Given the description of an element on the screen output the (x, y) to click on. 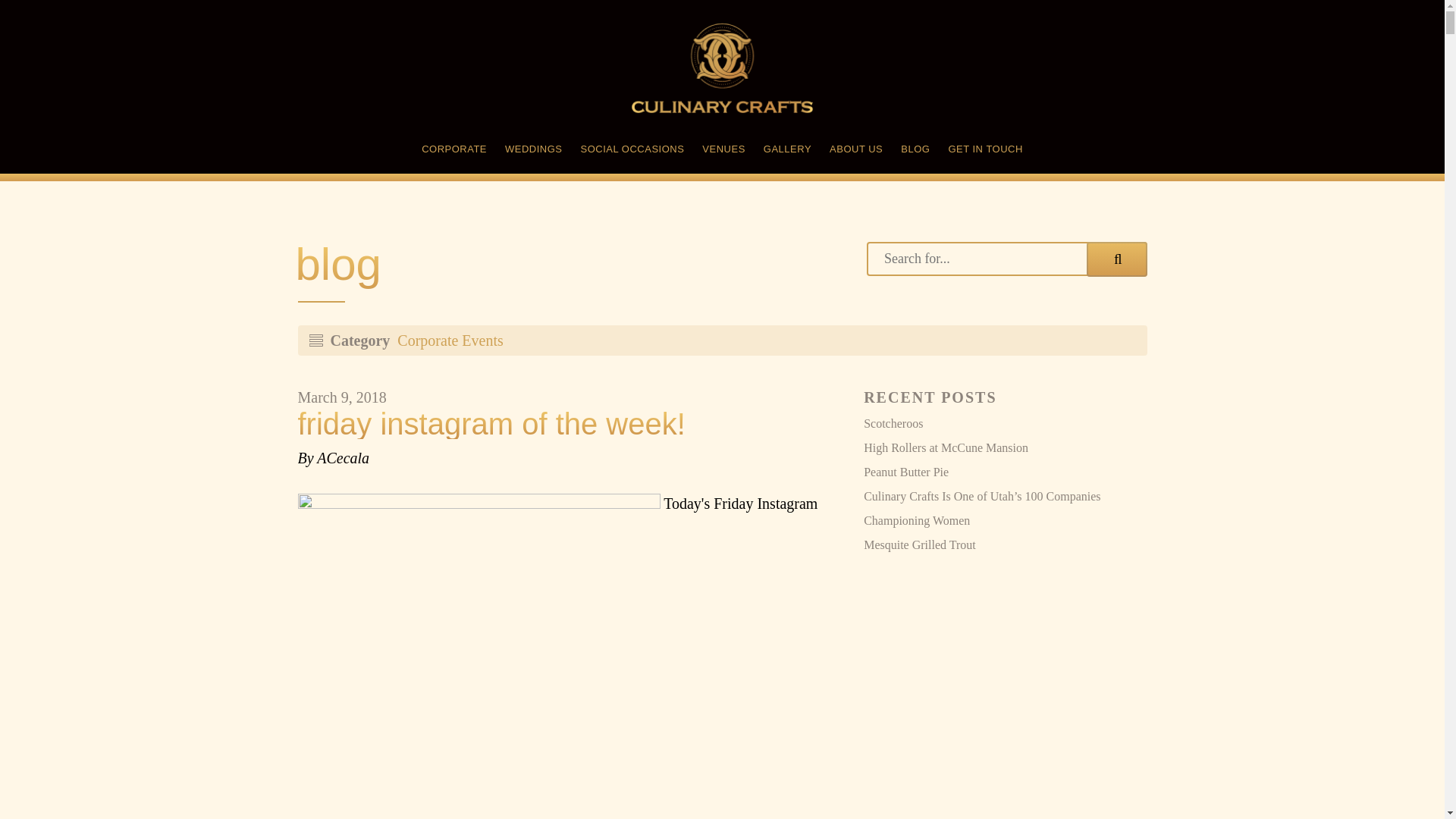
Search for... (1006, 258)
Posts by ACecala (343, 457)
GET IN TOUCH (984, 151)
GALLERY (786, 151)
ABOUT US (855, 151)
WEDDINGS (533, 151)
CORPORATE (454, 151)
friday instagram of the week! (564, 423)
